Given the description of an element on the screen output the (x, y) to click on. 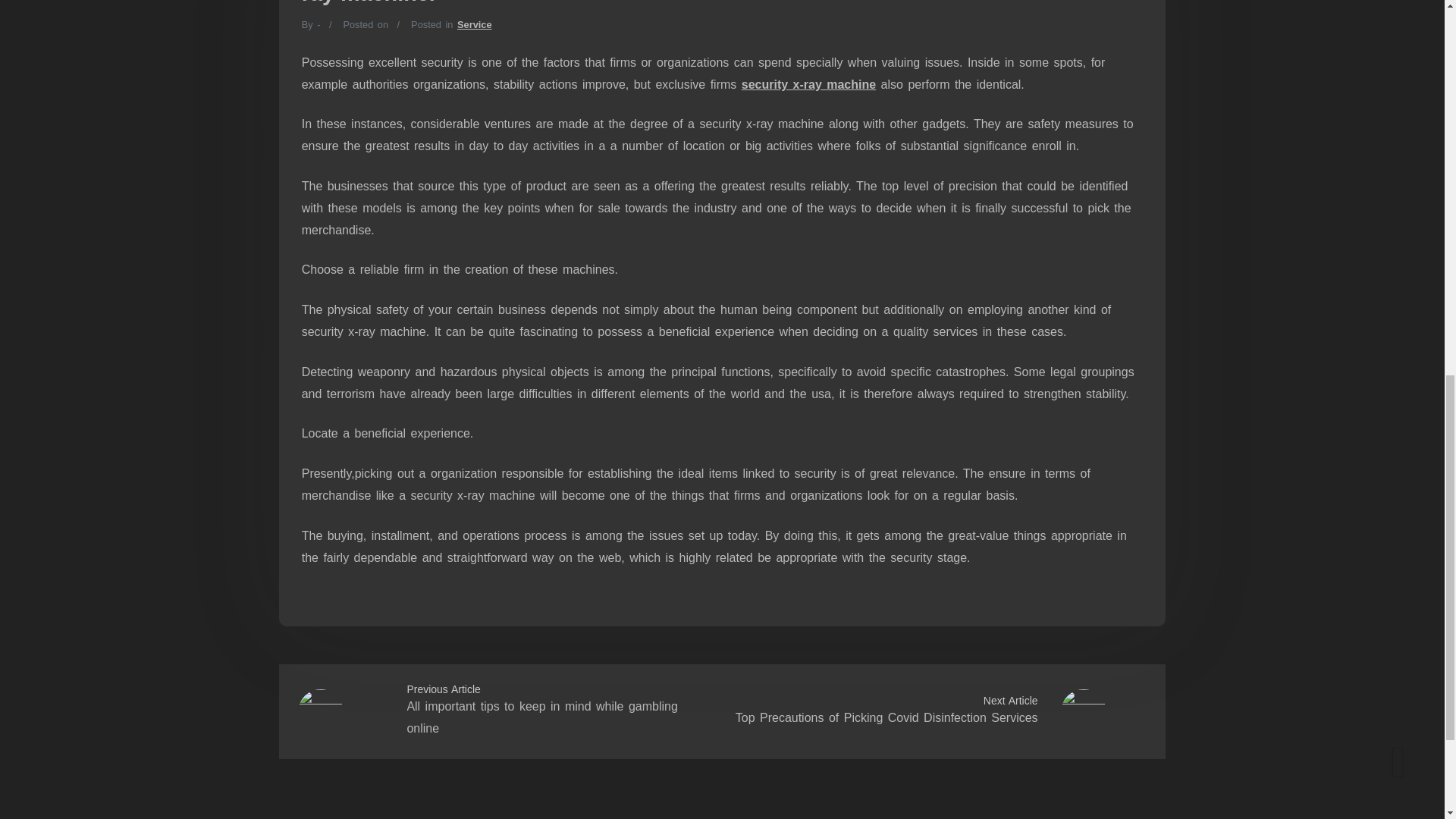
Service (474, 24)
Top Precautions of Picking Covid Disinfection Services (886, 717)
security x-ray machine (808, 83)
All important tips to keep in mind while gambling online (542, 717)
